Given the description of an element on the screen output the (x, y) to click on. 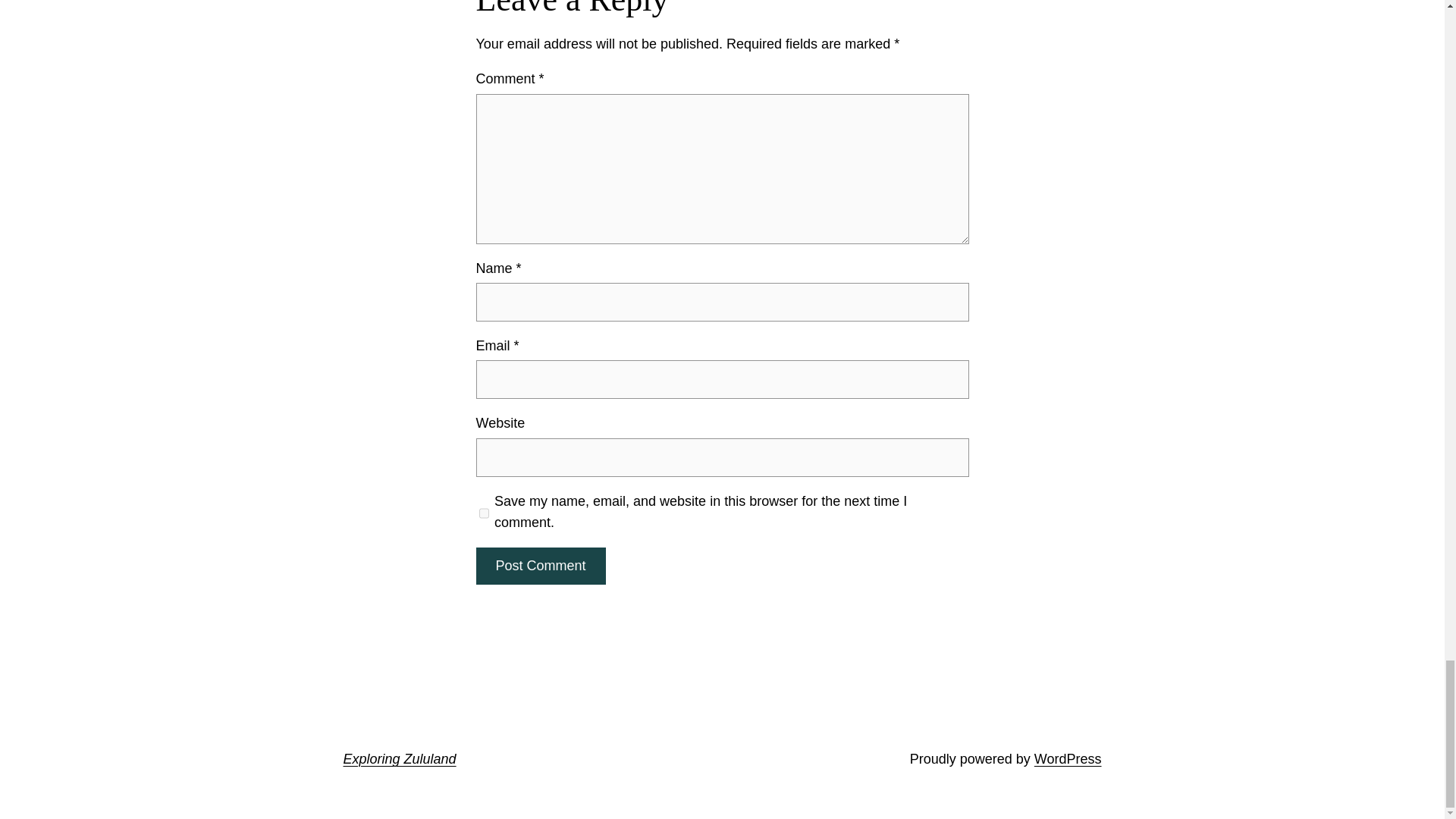
Post Comment (540, 565)
Exploring Zululand (398, 758)
Post Comment (540, 565)
WordPress (1067, 758)
